Given the description of an element on the screen output the (x, y) to click on. 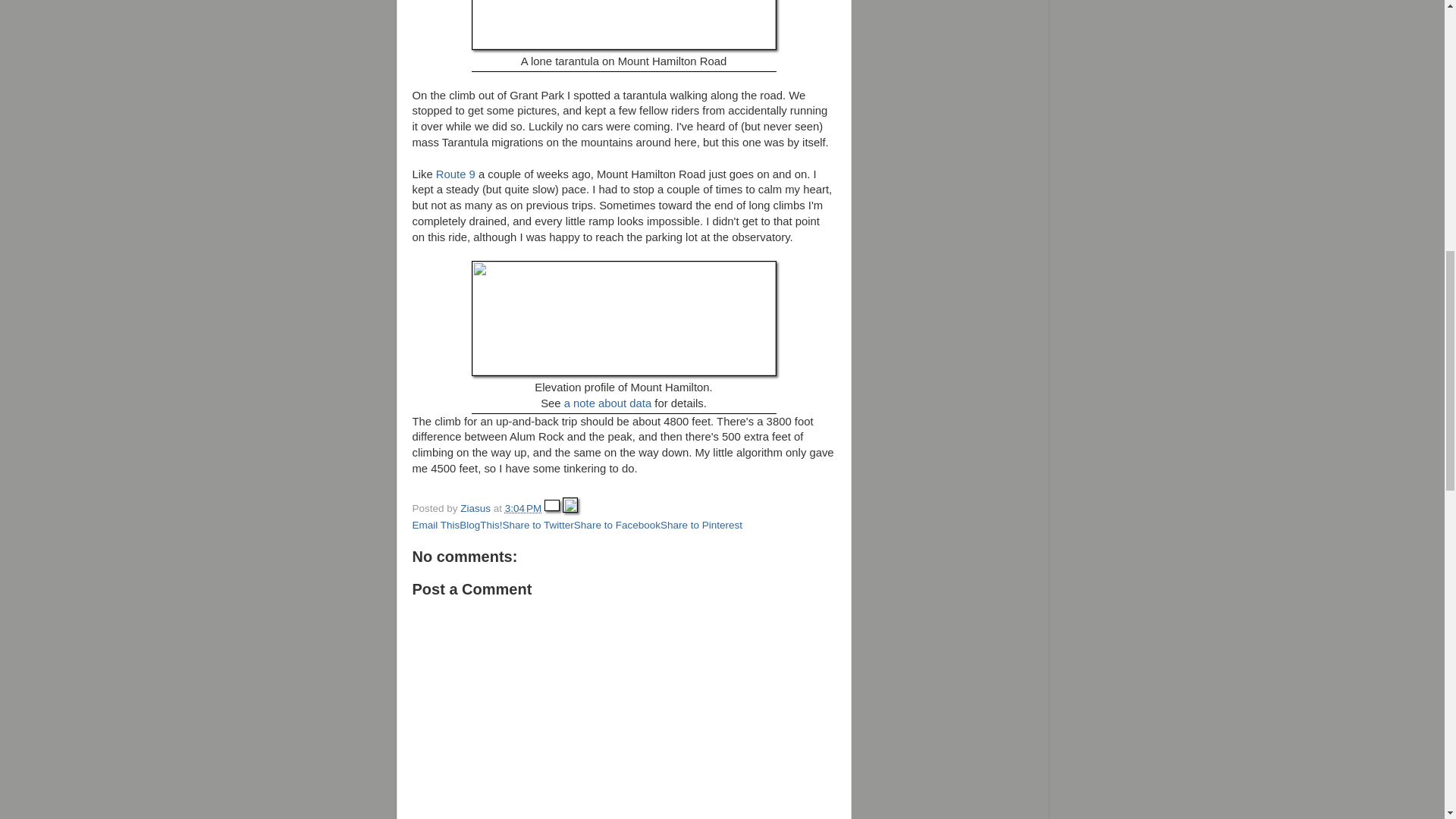
Share to Facebook (617, 524)
Email Post (553, 508)
Route 9 (454, 174)
Share to Pinterest (701, 524)
author profile (476, 508)
Email This (436, 524)
BlogThis! (481, 524)
BlogThis! (481, 524)
Share to Twitter (537, 524)
Share to Pinterest (701, 524)
a note about data (608, 403)
Email This (436, 524)
Ziasus (476, 508)
permanent link (523, 508)
Share to Facebook (617, 524)
